Given the description of an element on the screen output the (x, y) to click on. 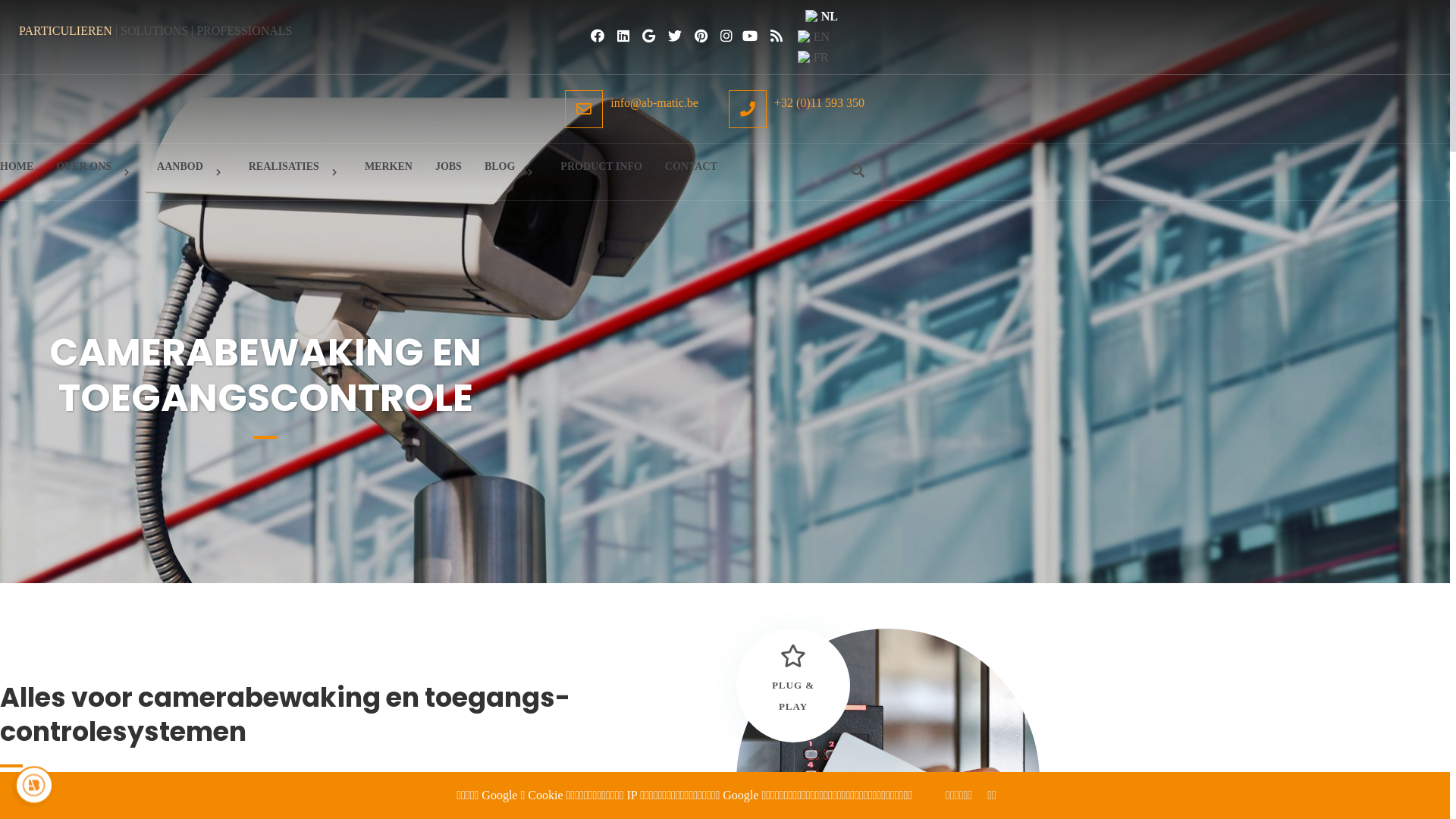
NL Element type: text (821, 16)
REALISATIES Element type: text (295, 171)
PROFESSIONALS Element type: text (243, 30)
info@ab-matic.be Element type: text (631, 109)
SOLUTIONS Element type: text (154, 30)
HOME Element type: text (16, 165)
PRODUCT INFO Element type: text (600, 165)
AANBOD Element type: text (190, 171)
+32 (0)11 593 350 Element type: text (796, 109)
CONTACT Element type: text (691, 165)
PARTICULIEREN Element type: text (65, 30)
MERKEN Element type: text (388, 165)
FR Element type: text (821, 57)
BLOG Element type: text (510, 171)
OVER ONS Element type: text (95, 171)
JOBS Element type: text (448, 165)
EN Element type: text (821, 36)
